Given the description of an element on the screen output the (x, y) to click on. 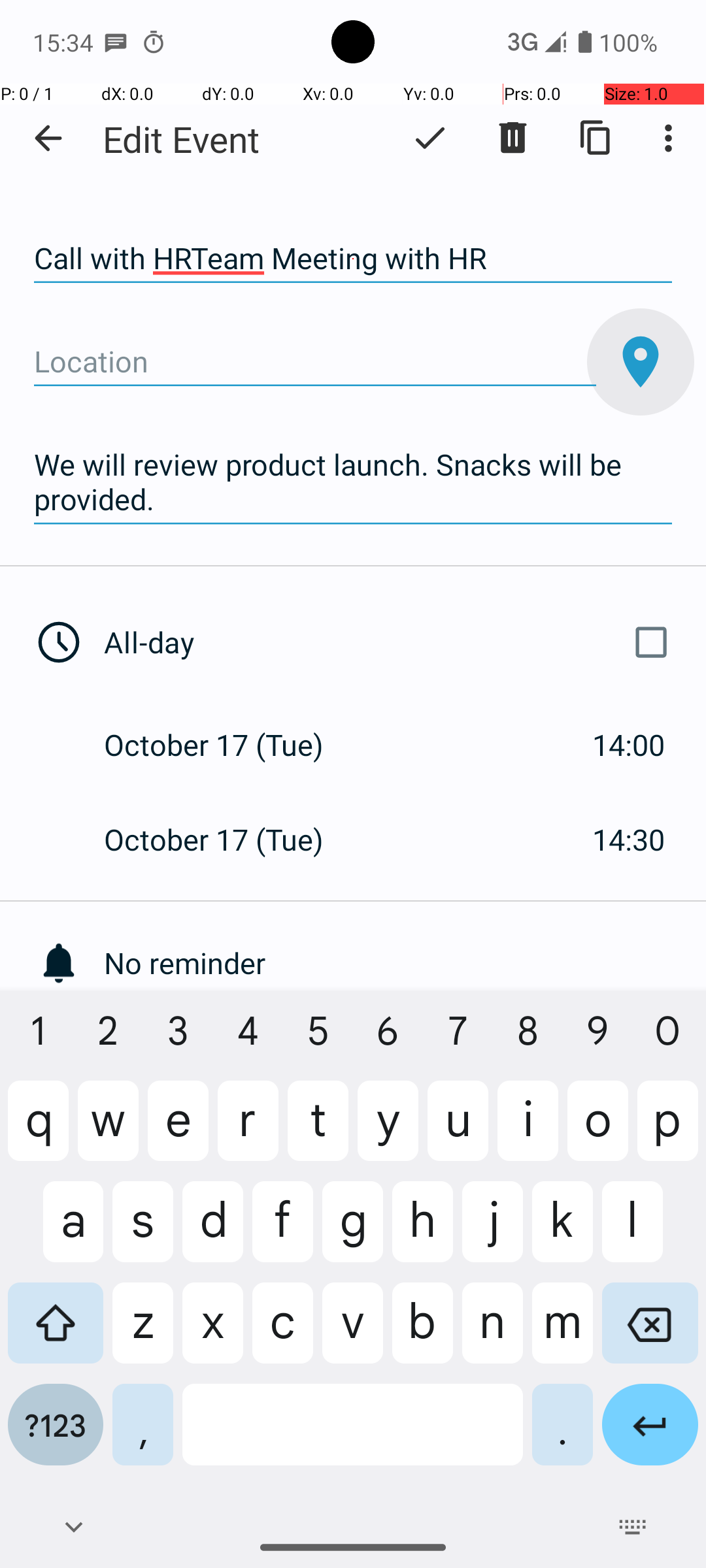
Edit Event Element type: android.widget.TextView (181, 138)
Duplicate event Element type: android.widget.Button (595, 137)
Call with HRTeam Meeting with HR Element type: android.widget.EditText (352, 258)
Location Element type: android.widget.EditText (314, 361)
We will review product launch. Snacks will be provided. Element type: android.widget.EditText (352, 482)
October 17 (Tue) Element type: android.widget.TextView (227, 744)
14:00 Element type: android.widget.TextView (628, 744)
14:30 Element type: android.widget.TextView (628, 838)
No reminder Element type: android.widget.TextView (404, 962)
All-day Element type: android.widget.CheckBox (390, 642)
